Given the description of an element on the screen output the (x, y) to click on. 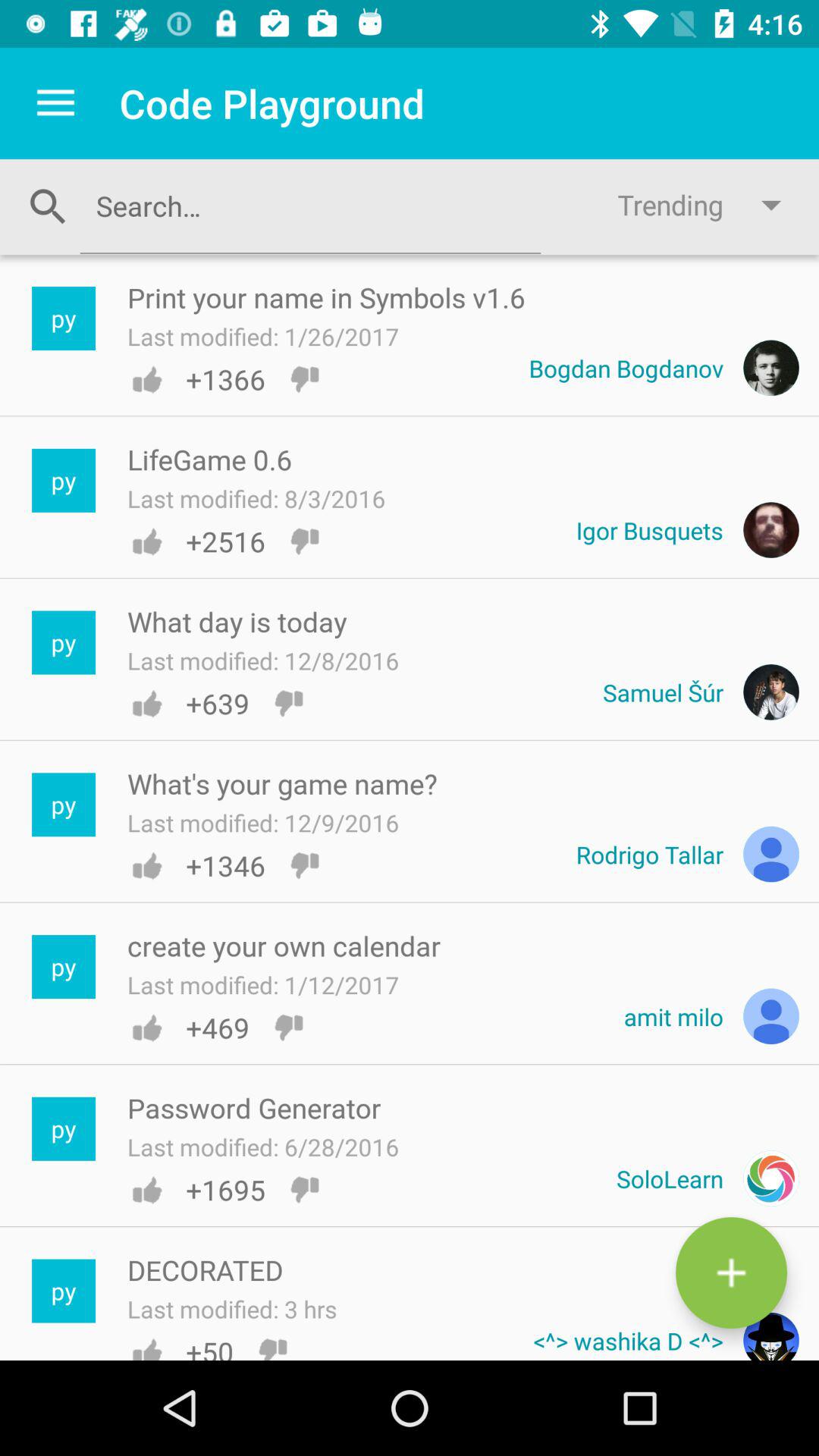
search (310, 205)
